Given the description of an element on the screen output the (x, y) to click on. 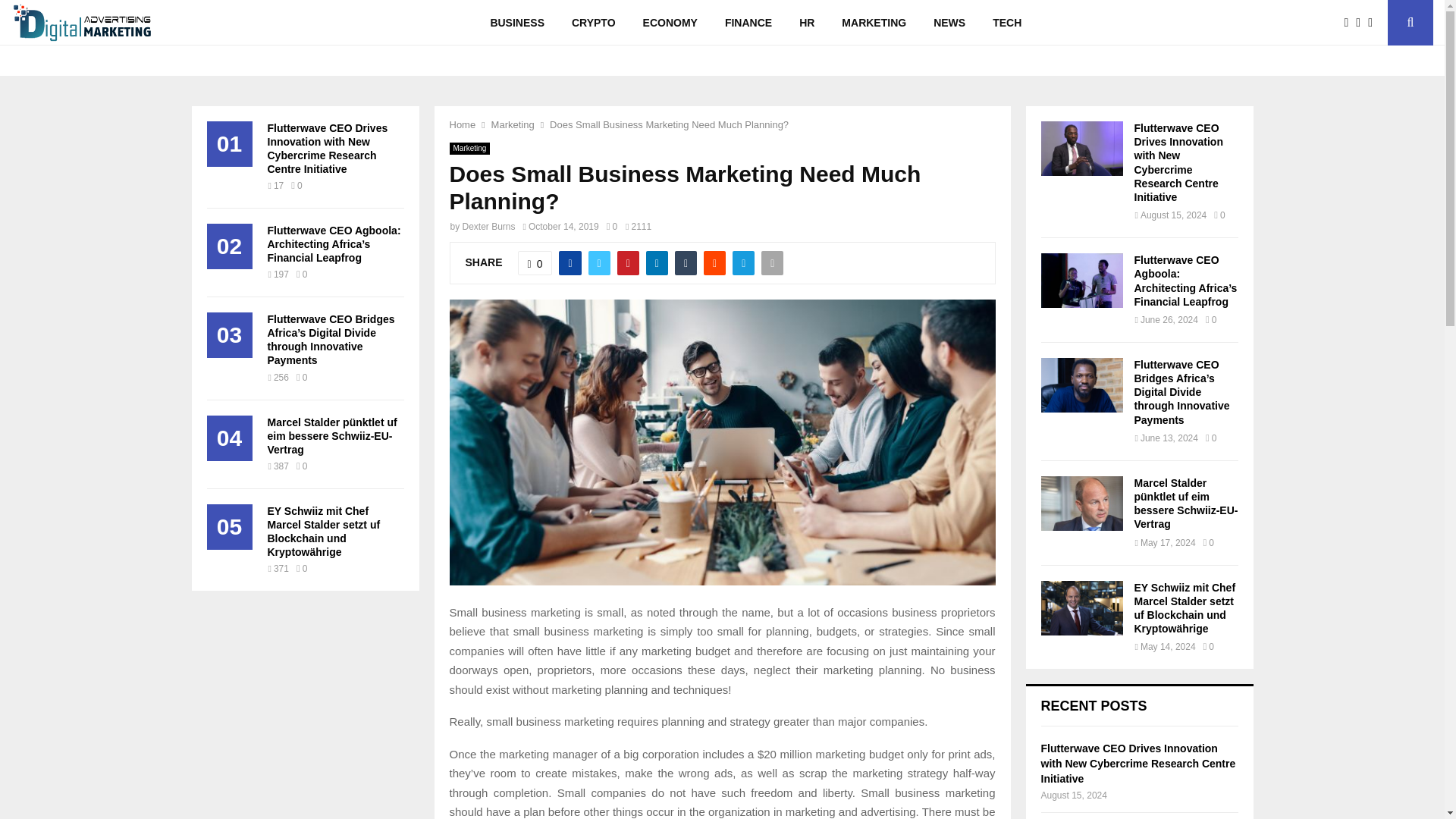
CRYPTO (592, 22)
0 (612, 226)
Marketing (513, 124)
HR (807, 22)
ECONOMY (669, 22)
Does Small Business Marketing Need Much Planning? (669, 124)
FINANCE (748, 22)
0 (535, 262)
Like (535, 262)
BUSINESS (516, 22)
